Given the description of an element on the screen output the (x, y) to click on. 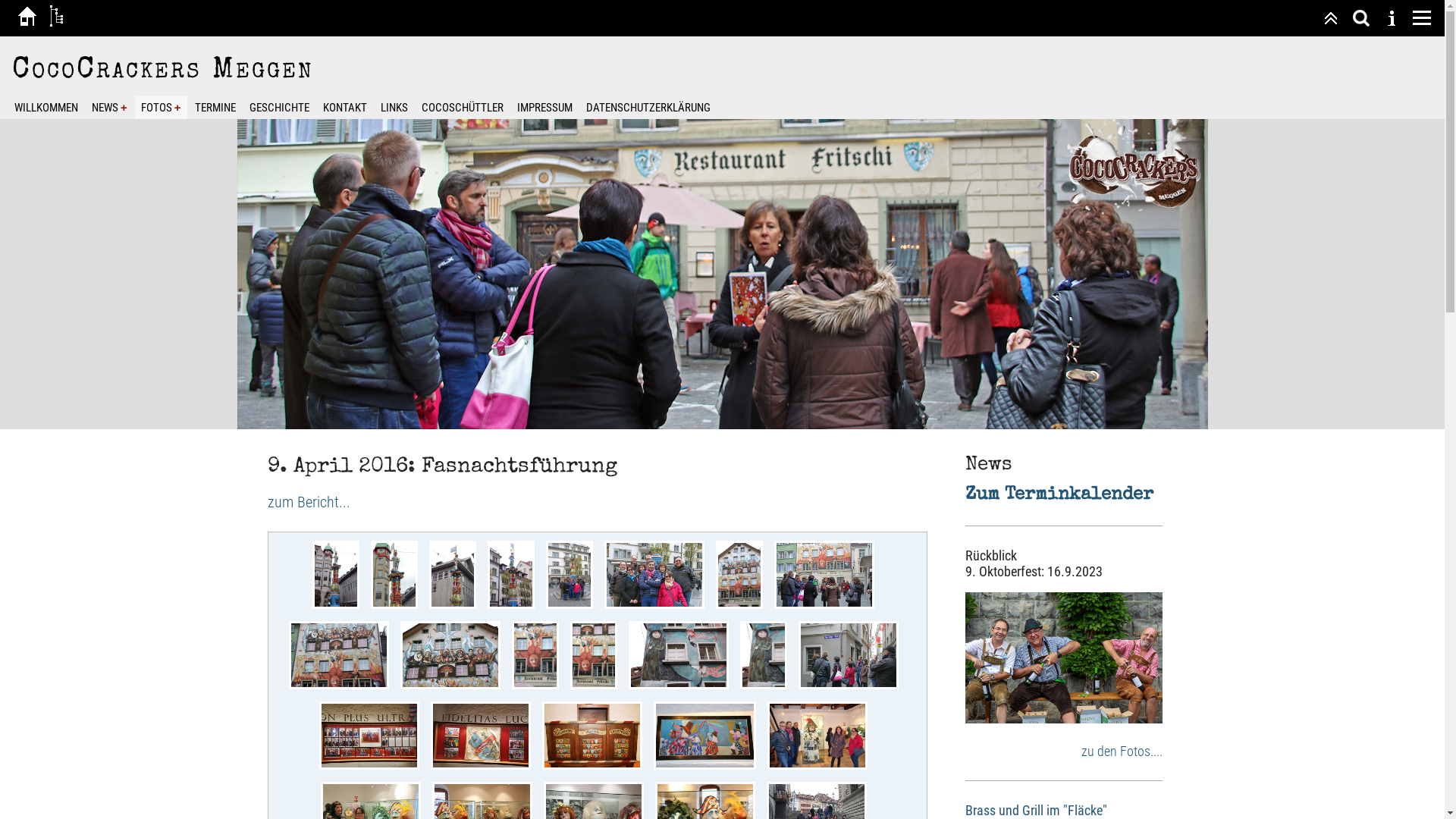
IMPRESSUM Element type: text (544, 107)
zum Bericht... Element type: text (307, 501)
Zum Terminkalender Element type: text (1058, 495)
WILLKOMMEN Element type: text (46, 107)
FOTOS Element type: text (161, 107)
Oktoberfest 2023 Element type: hover (1062, 657)
LINKS Element type: text (393, 107)
GESCHICHTE Element type: text (279, 107)
2023 Oktoberfest Element type: hover (1062, 718)
TERMINE Element type: text (214, 107)
NEWS Element type: text (109, 107)
KONTAKT Element type: text (345, 107)
zu den Fotos.... Element type: text (1121, 751)
